Given the description of an element on the screen output the (x, y) to click on. 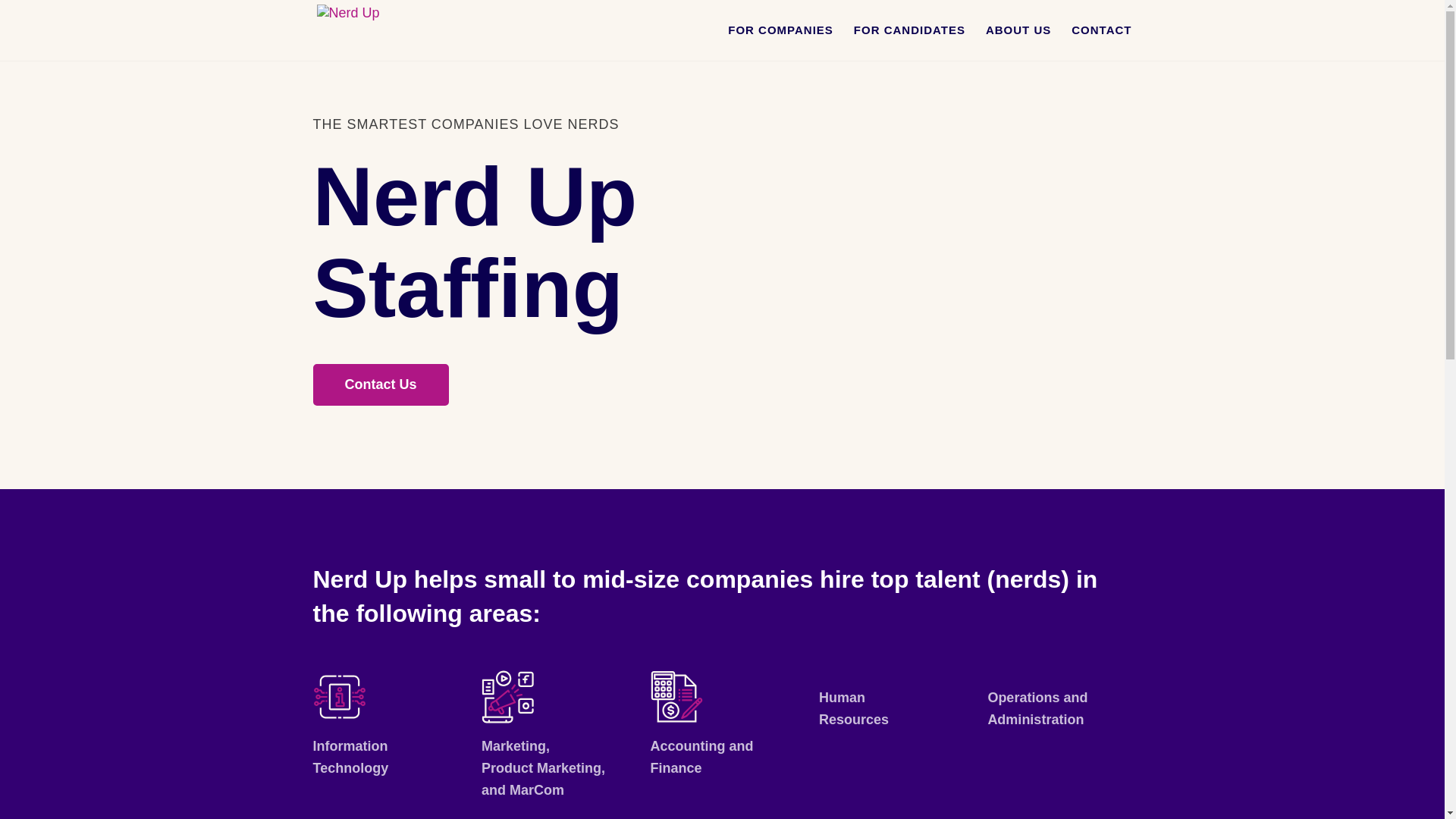
ABOUT US (1018, 42)
Contact Us (380, 384)
FOR COMPANIES (780, 42)
CONTACT (1101, 42)
FOR CANDIDATES (909, 42)
Nerd-Up-Smarter-Staffing information technology icon-01 (339, 696)
Nerd-Up-Smarter-Staffing marketing icon (507, 696)
Nerd-Up-Smarter-Staffing Accounting and Finance icon-05 (676, 696)
